Given the description of an element on the screen output the (x, y) to click on. 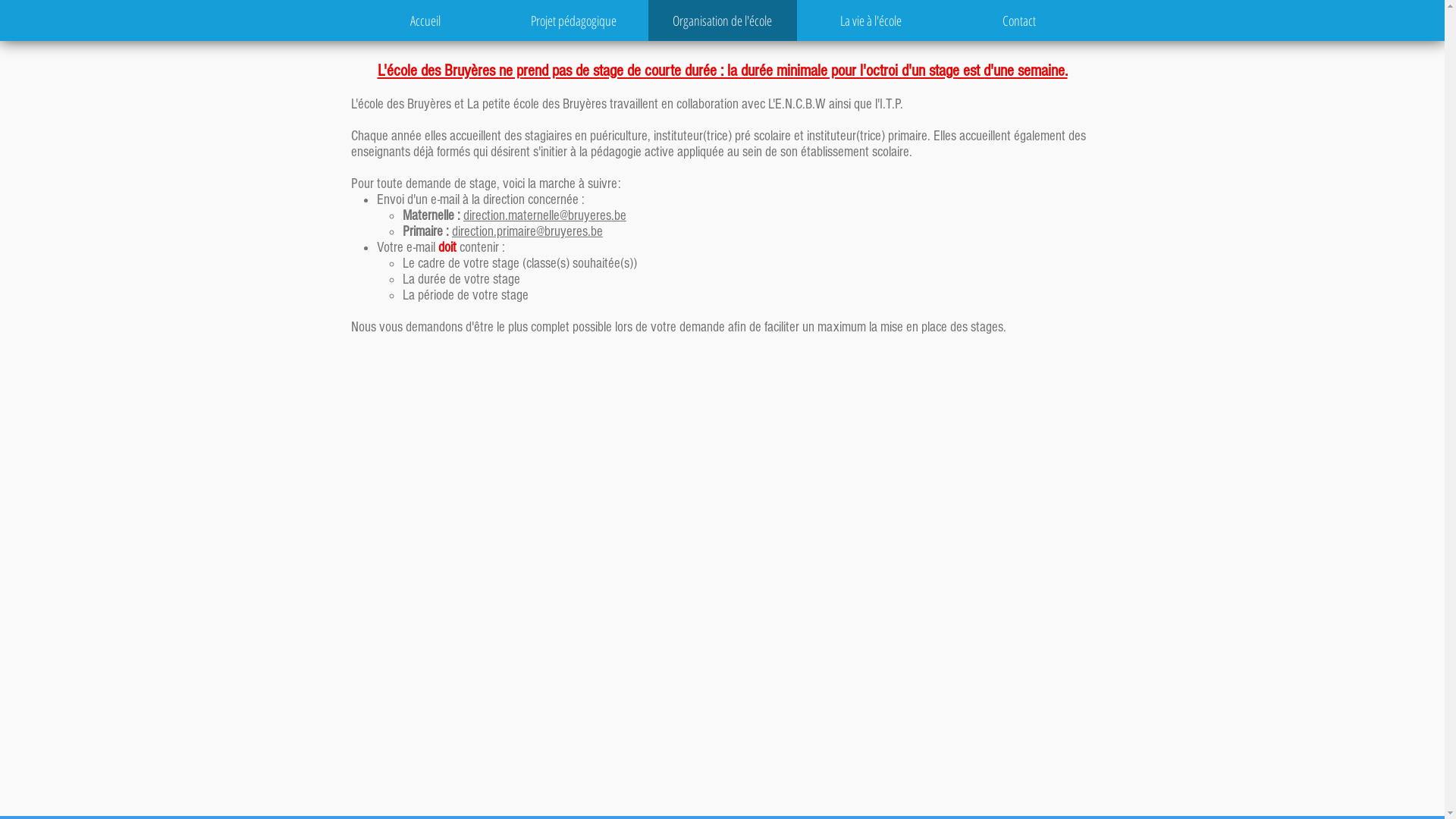
direction.primaire@bruyeres.be Element type: text (526, 231)
direction.maternelle@bruyeres.be Element type: text (544, 215)
Contact Element type: text (1018, 20)
Accueil Element type: text (424, 20)
